Given the description of an element on the screen output the (x, y) to click on. 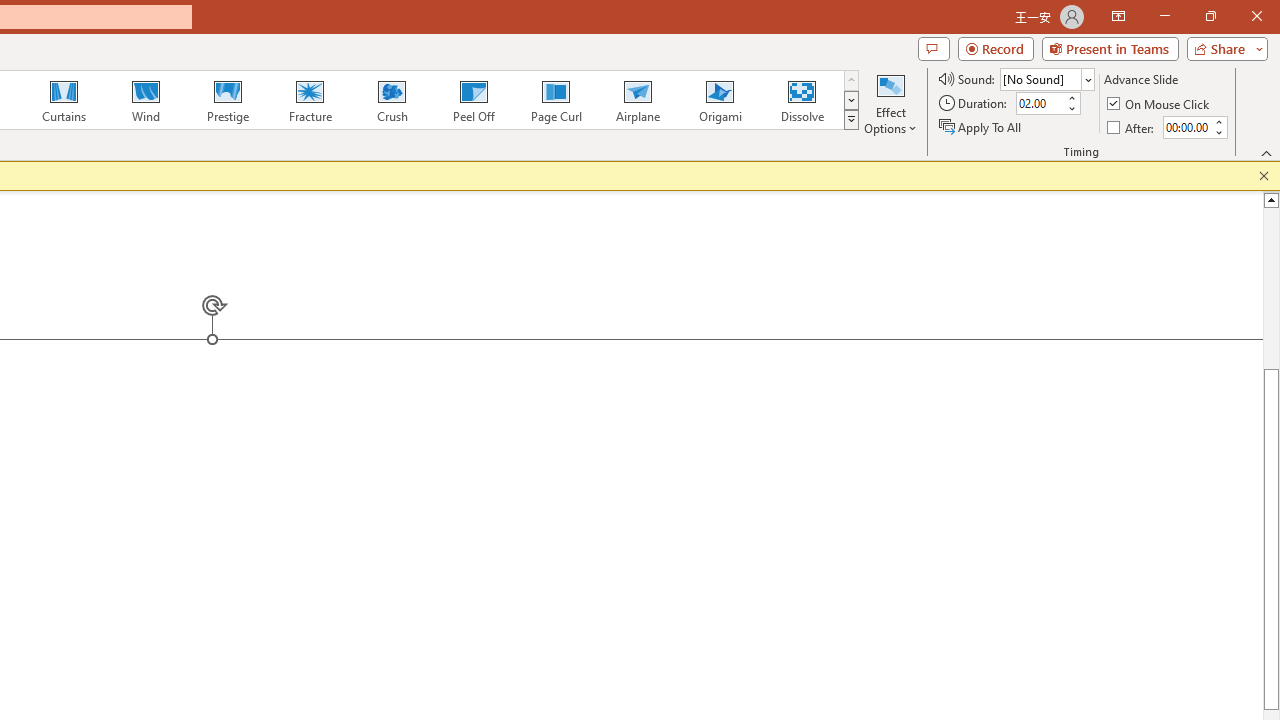
Crush (391, 100)
Apply To All (981, 126)
Duration (1039, 103)
Wind (145, 100)
Fracture (309, 100)
Prestige (227, 100)
Transition Effects (850, 120)
